Given the description of an element on the screen output the (x, y) to click on. 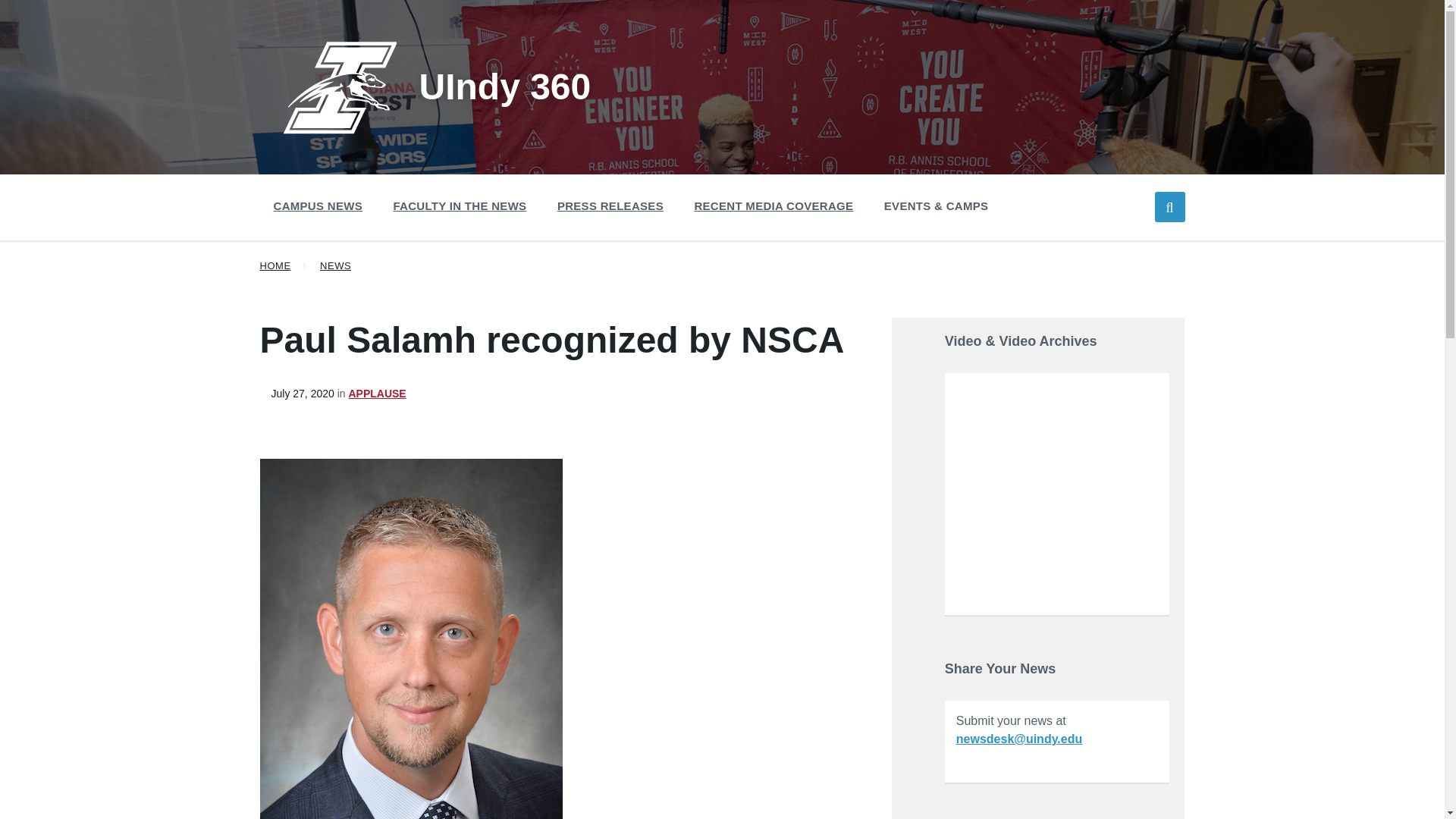
RECENT MEDIA COVERAGE (772, 205)
FACULTY IN THE NEWS (459, 205)
PRESS RELEASES (609, 205)
Category (371, 393)
YouTube video player (1057, 492)
Expand search (1169, 206)
CAMPUS NEWS (317, 205)
UIndy 360 (436, 87)
